Given the description of an element on the screen output the (x, y) to click on. 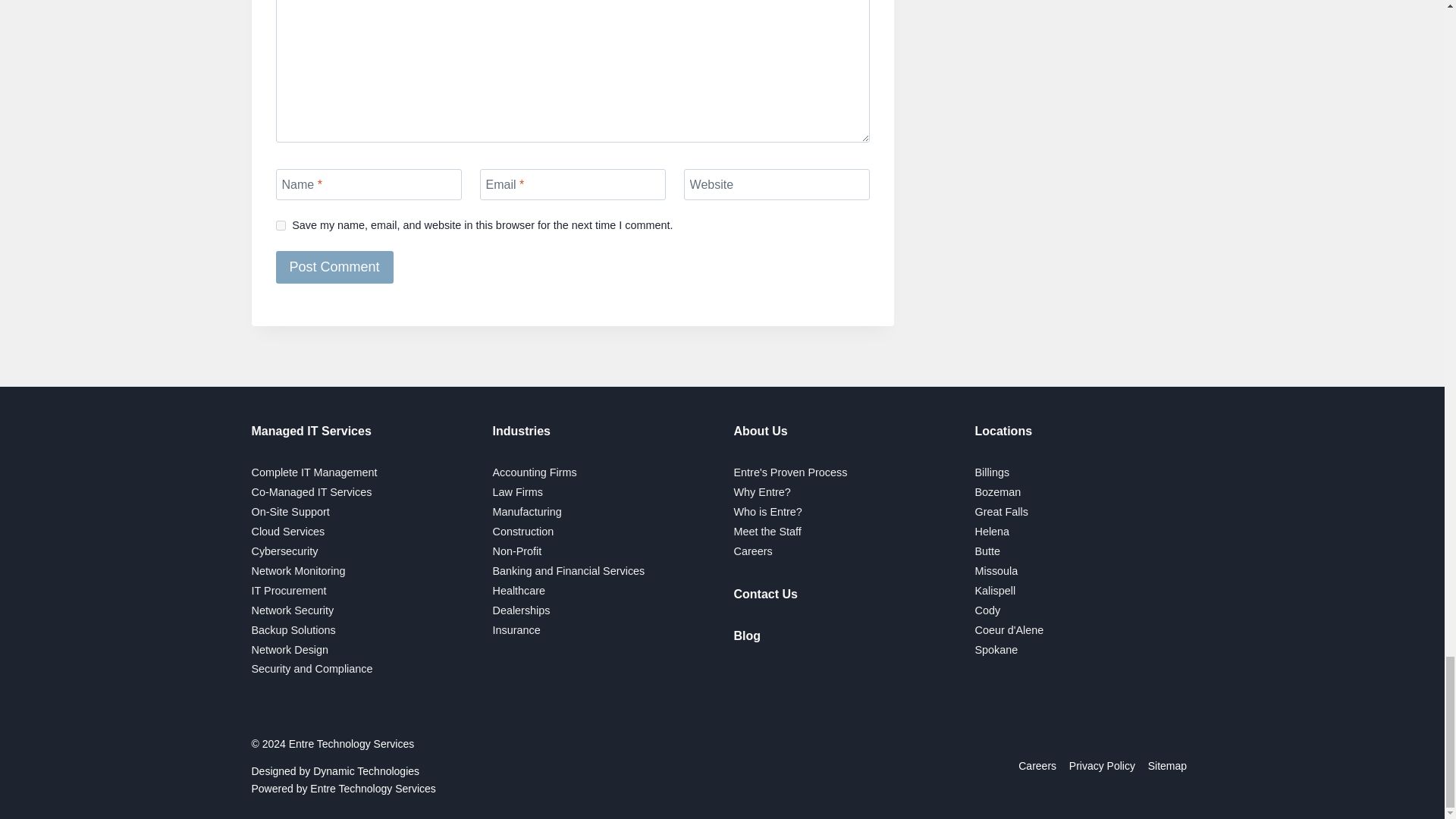
Post Comment (334, 266)
yes (280, 225)
